Given the description of an element on the screen output the (x, y) to click on. 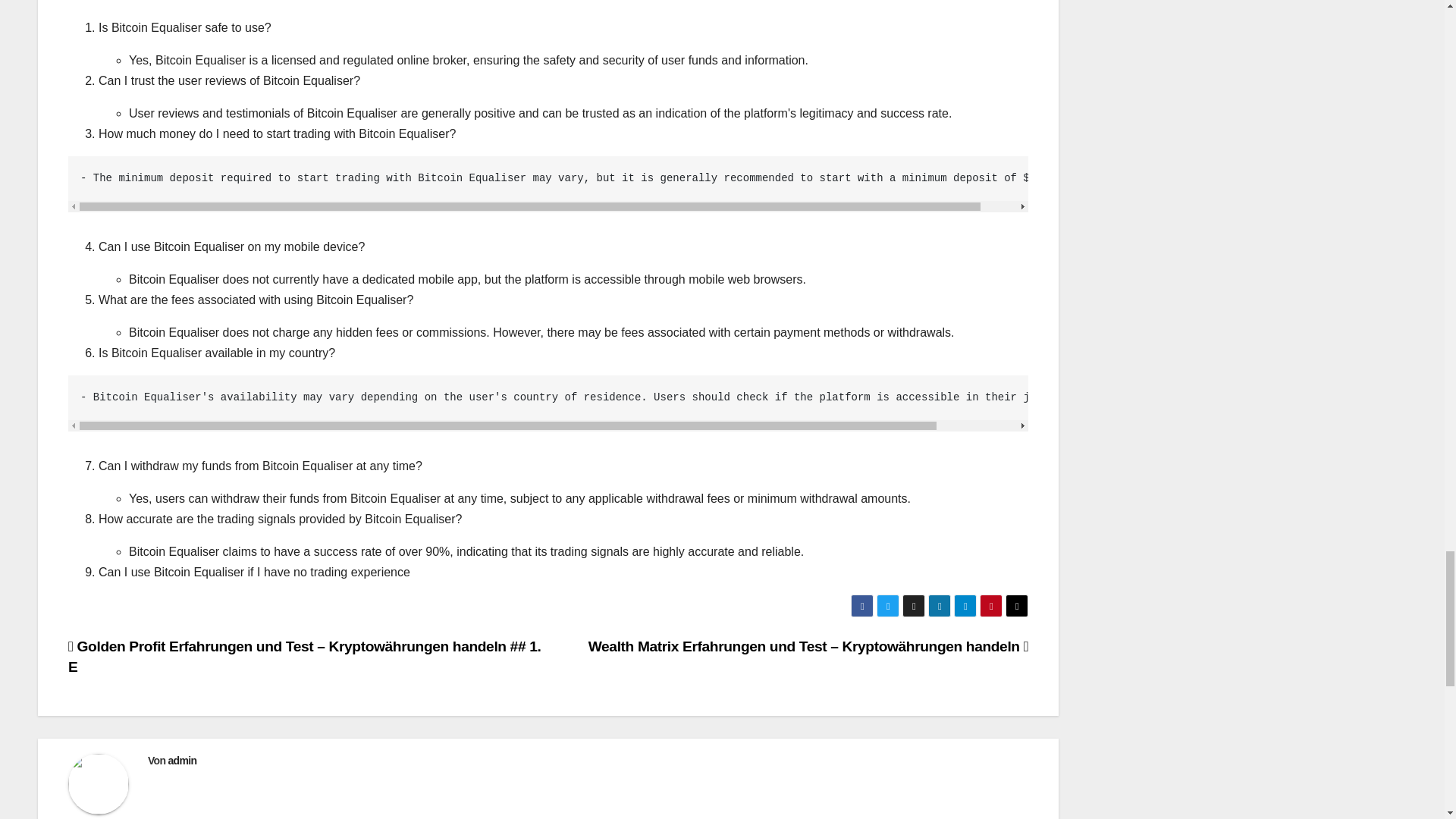
admin (182, 760)
